Given the description of an element on the screen output the (x, y) to click on. 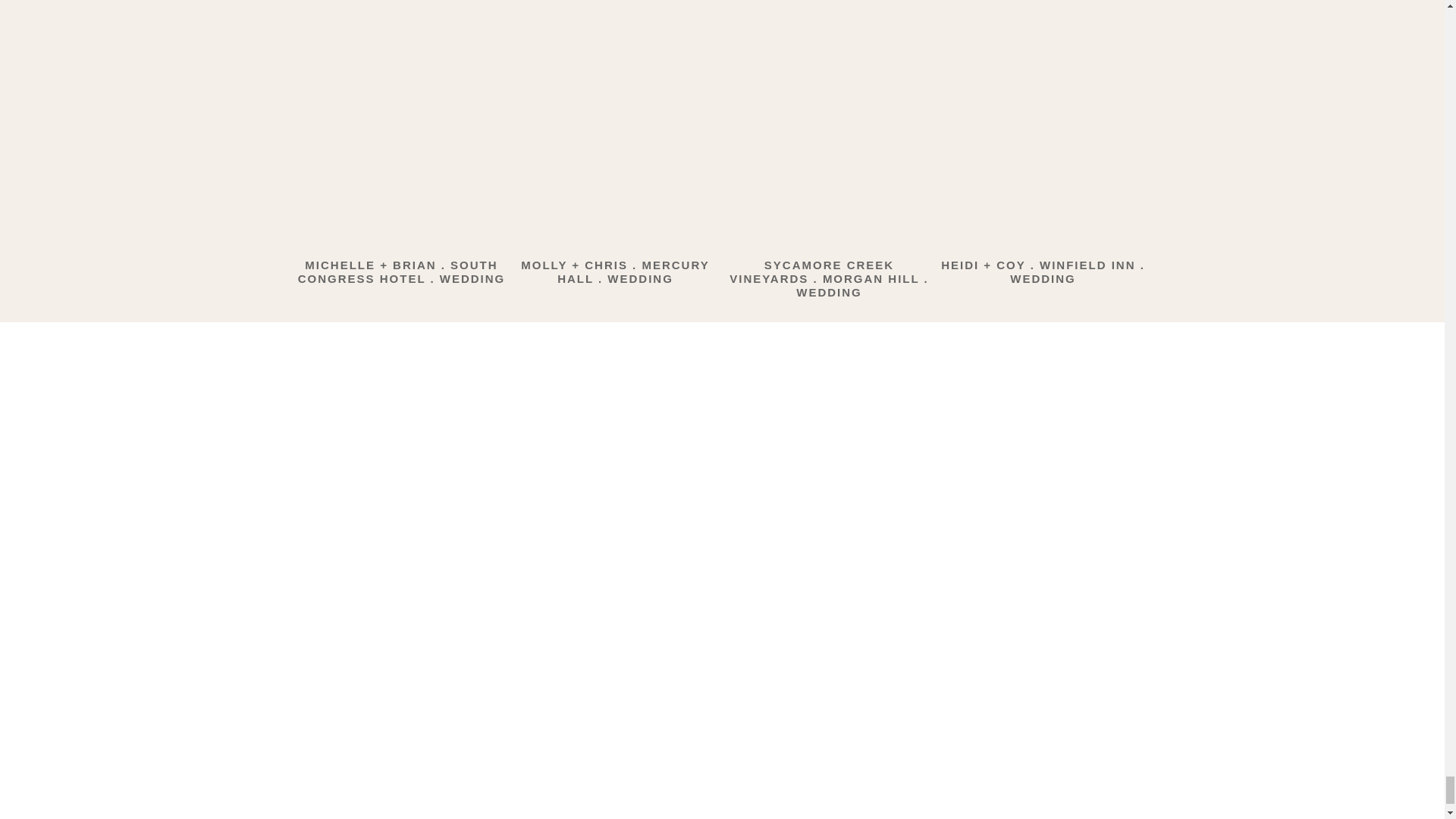
SYCAMORE CREEK VINEYARDS . MORGAN HILL . WEDDING (828, 278)
